Given the description of an element on the screen output the (x, y) to click on. 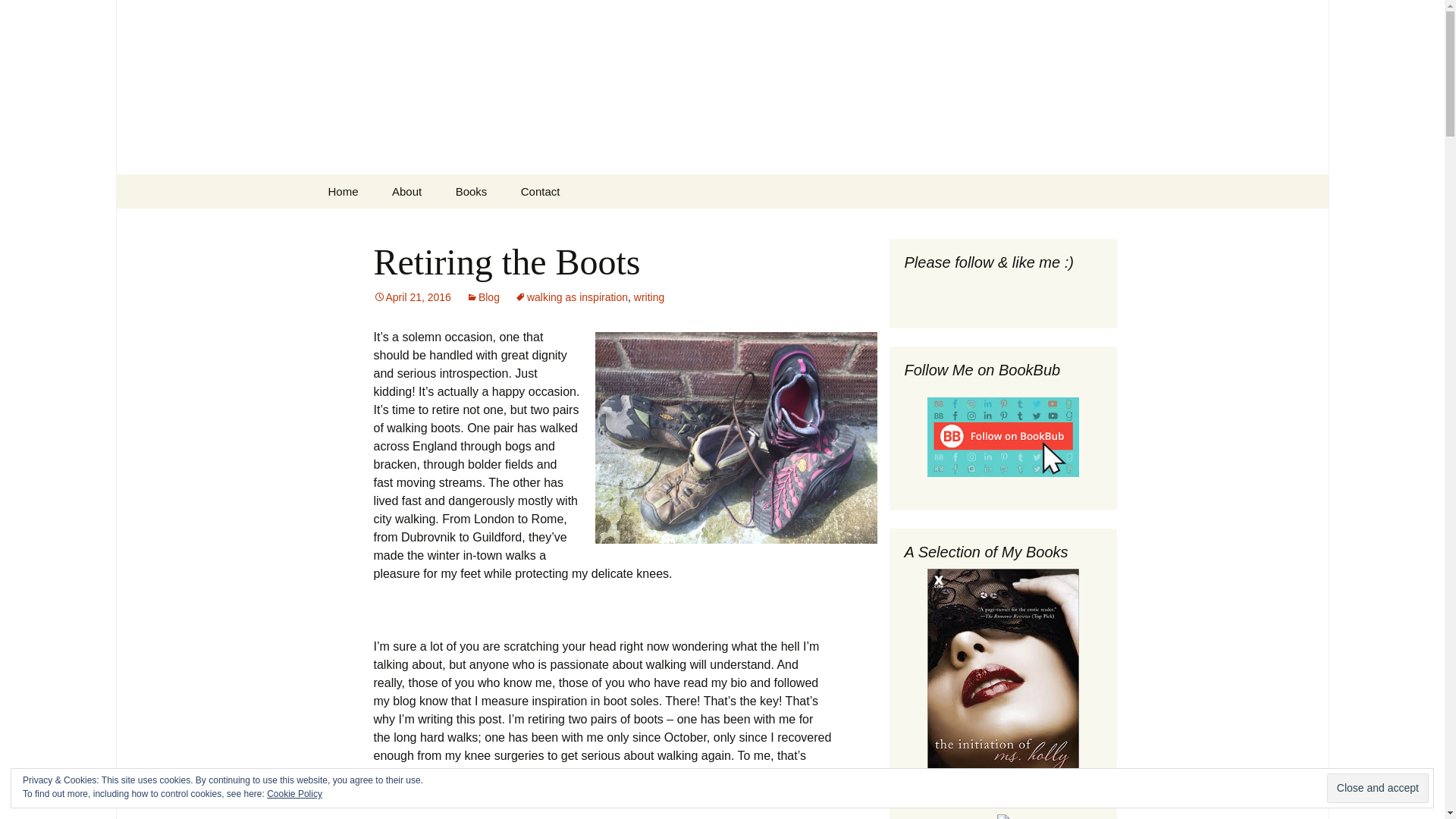
About (406, 191)
Contact (540, 191)
K D Grace (516, 225)
walking as inspiration (571, 297)
Close and accept (1377, 788)
writing (648, 297)
Facebook (933, 288)
Search (18, 15)
Twitter (954, 288)
Books (471, 191)
